Given the description of an element on the screen output the (x, y) to click on. 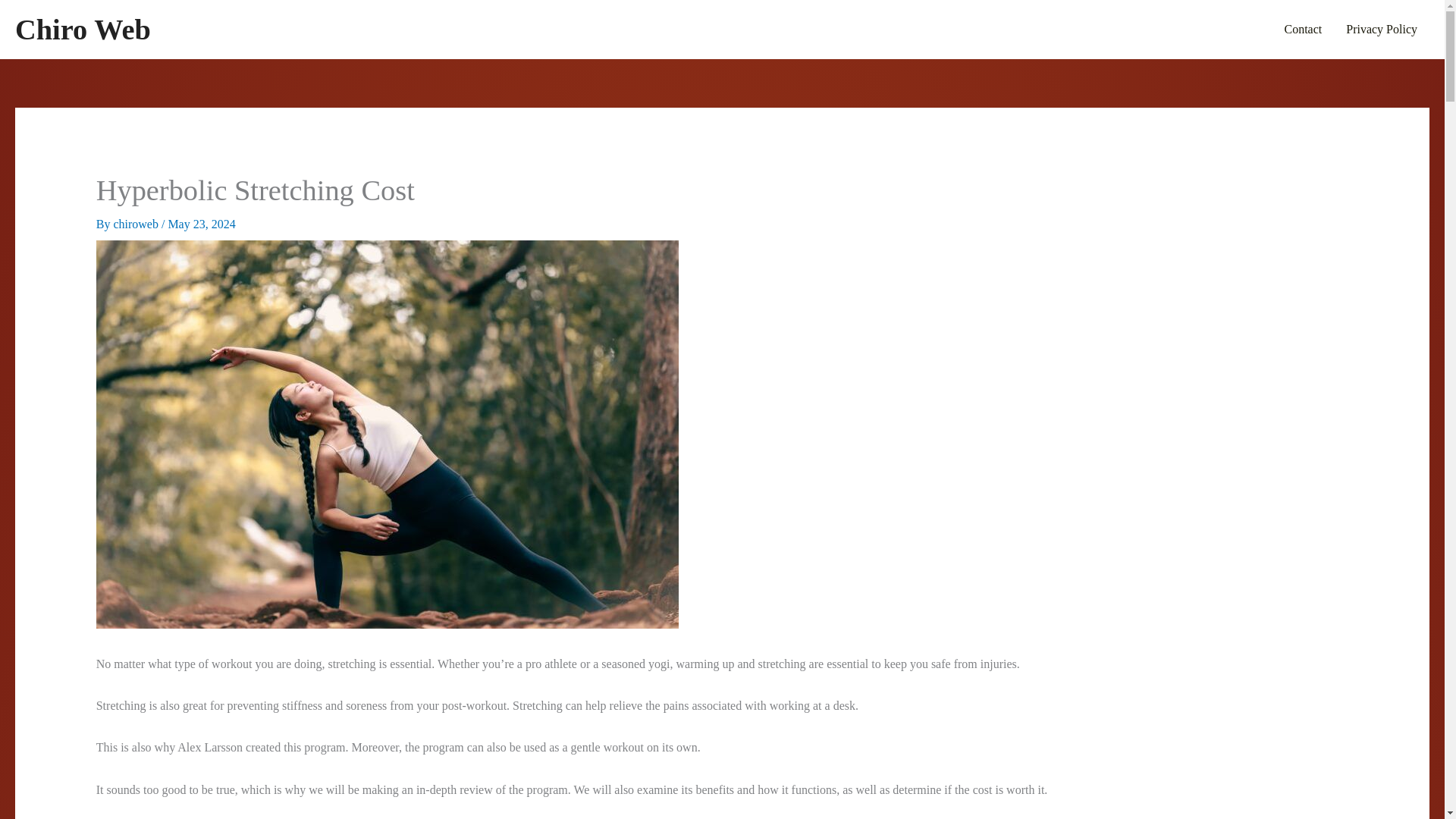
View all posts by chiroweb (137, 223)
chiroweb (137, 223)
Privacy Policy (1381, 29)
Chiro Web (82, 29)
Contact (1302, 29)
